Given the description of an element on the screen output the (x, y) to click on. 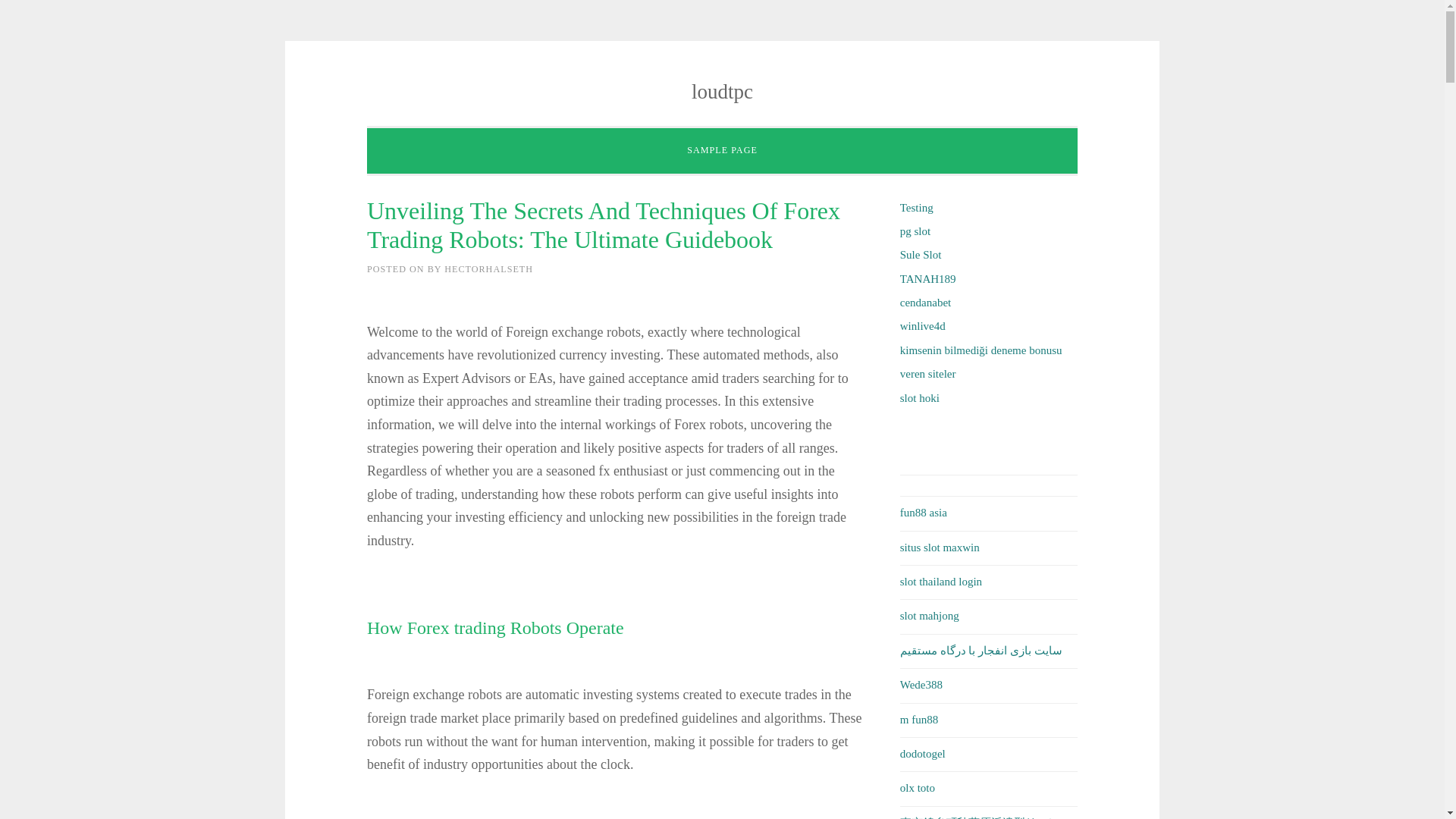
slot mahjong (929, 615)
cendanabet (924, 302)
Sule Slot (920, 254)
Wede388 (920, 684)
SAMPLE PAGE (721, 150)
dodotogel (921, 753)
pg slot (914, 231)
fun88 asia (923, 512)
HECTORHALSETH (488, 268)
situs slot maxwin (939, 547)
